Given the description of an element on the screen output the (x, y) to click on. 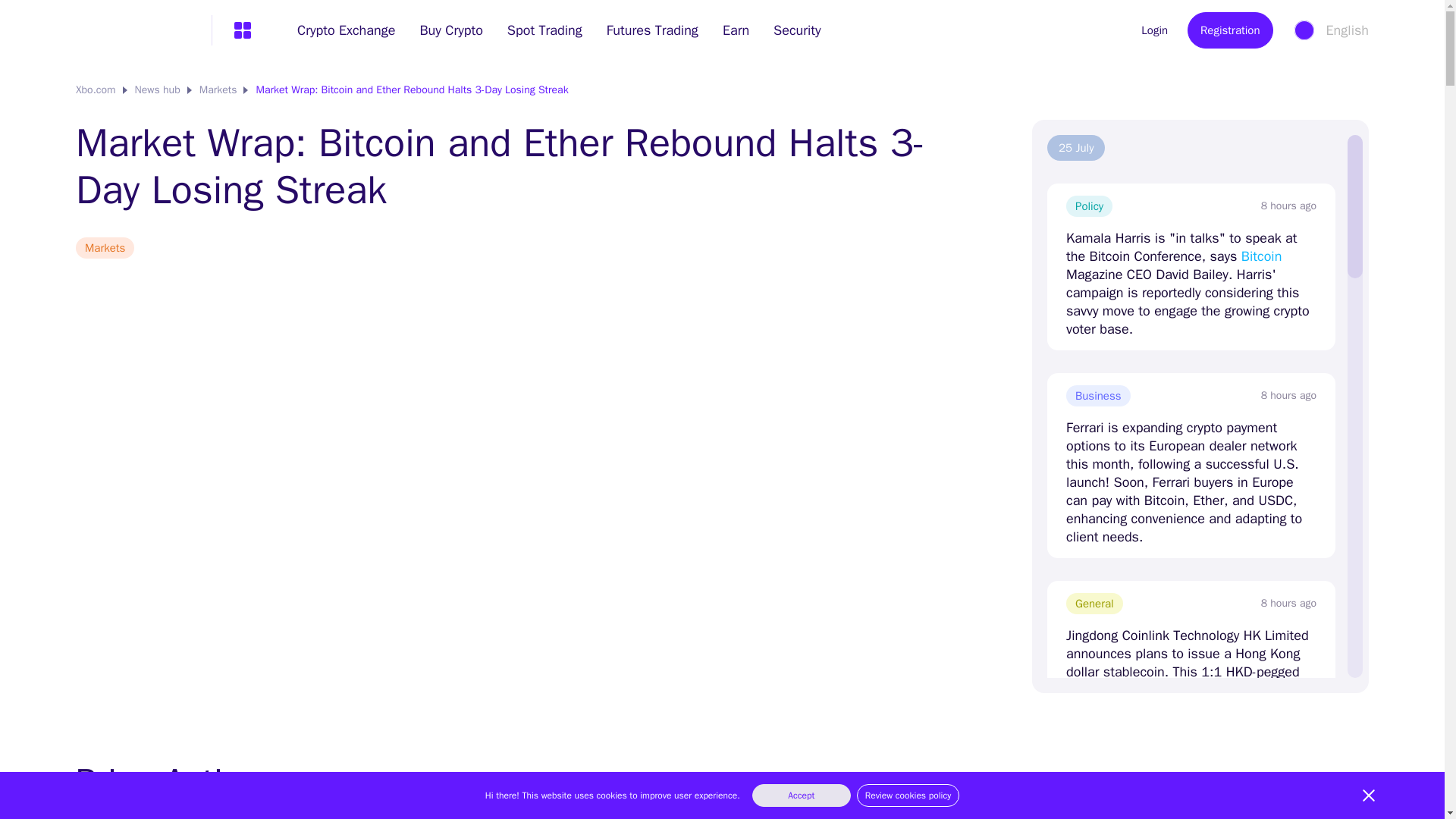
Markets (218, 89)
Buy Crypto (450, 30)
Login (1141, 29)
Futures Trading (652, 30)
Registration (1230, 30)
Spot Trading (544, 30)
Xbo.com (95, 89)
News hub (157, 89)
Crypto Exchange (345, 30)
English (1330, 30)
